Given the description of an element on the screen output the (x, y) to click on. 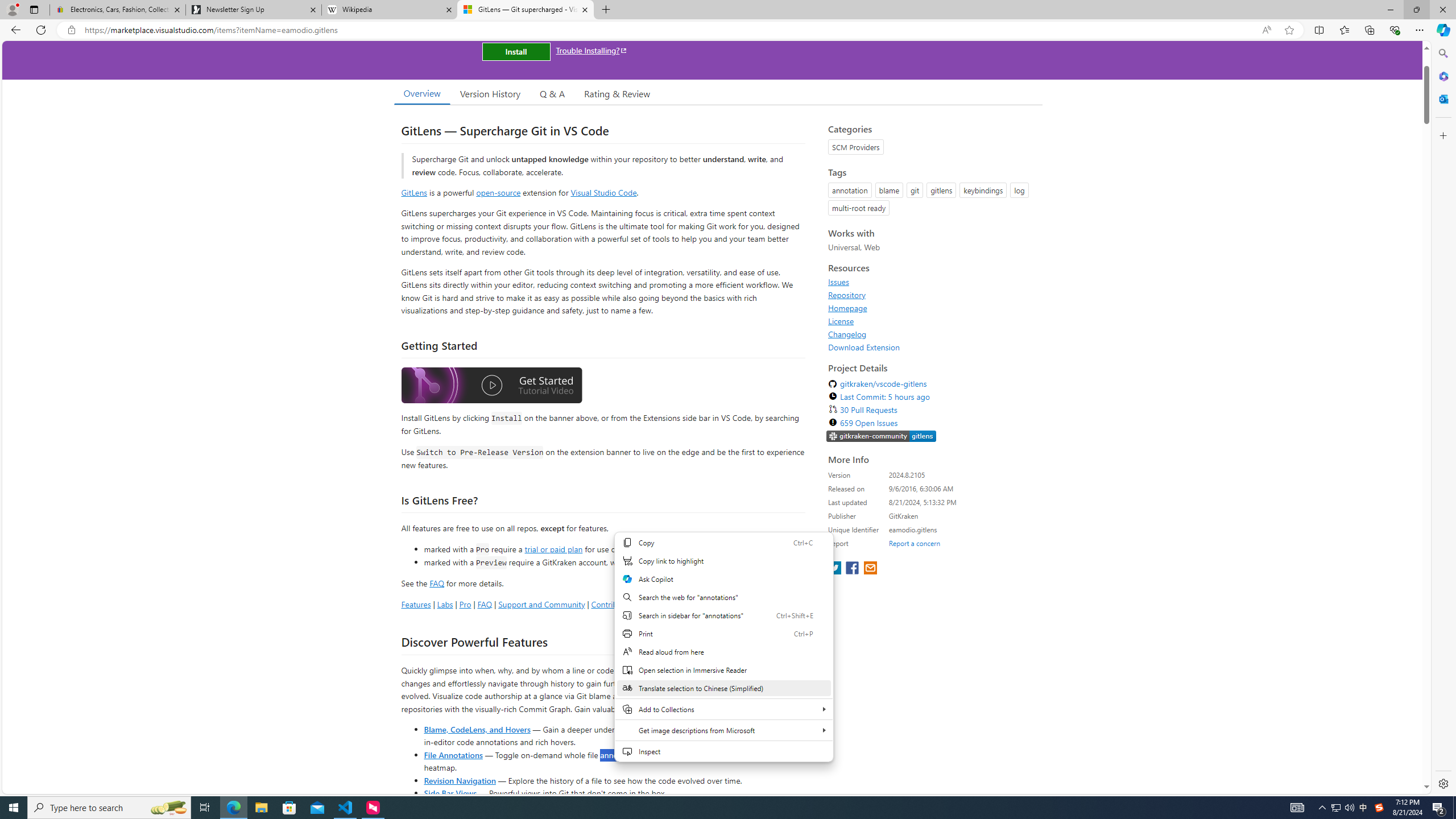
Features (415, 603)
Contributors (663, 603)
Browser essentials (1394, 29)
Overview (421, 92)
Add this page to favorites (Ctrl+D) (1289, 29)
Changelog (931, 333)
Translate selection to Chinese (Simplified) (723, 687)
License (931, 320)
Repository (847, 294)
Report a concern (914, 542)
Outlook (1442, 98)
